Given the description of an element on the screen output the (x, y) to click on. 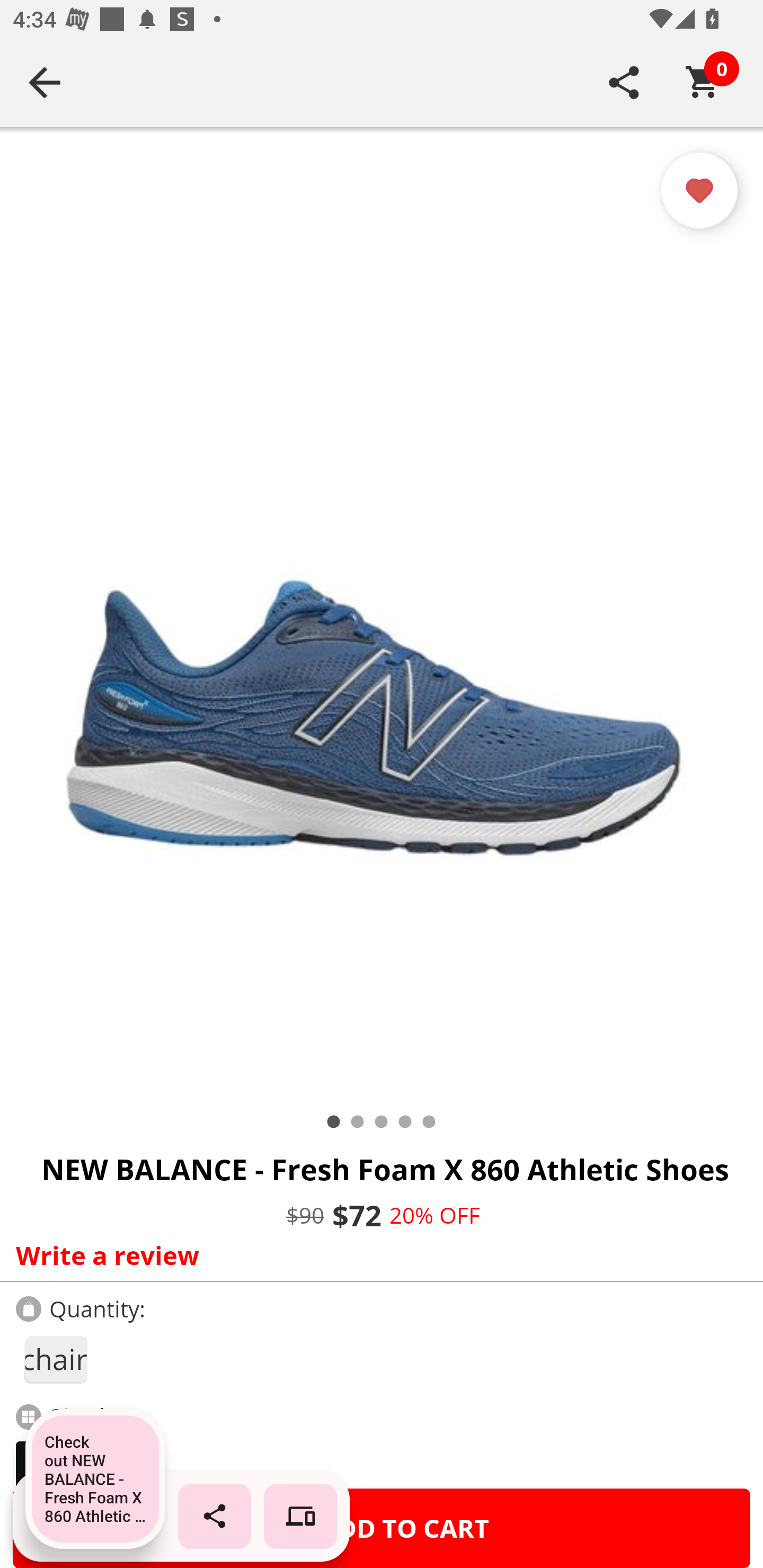
Navigate up (44, 82)
SHARE (623, 82)
Cart (703, 81)
Write a review (377, 1255)
1armchair (55, 1358)
